Given the description of an element on the screen output the (x, y) to click on. 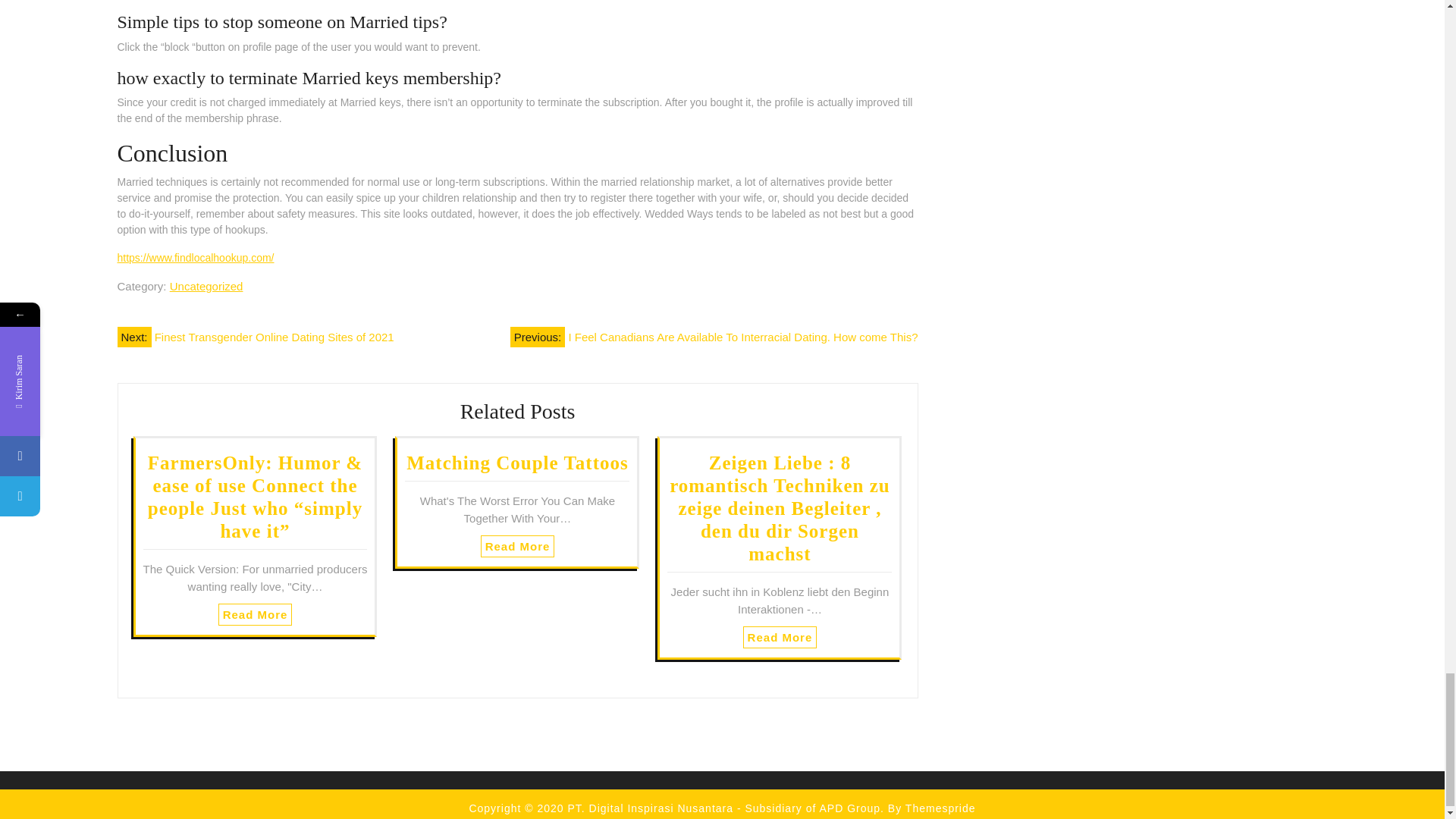
Uncategorized (206, 286)
Read More (779, 637)
Read More (779, 637)
Matching Couple Tattoos (516, 462)
Read More (255, 614)
Read More (517, 546)
Next: Finest Transgender Online Dating Sites of 2021 (254, 336)
Matching Couple Tattoos (516, 462)
Read More (517, 546)
Read More (255, 614)
